Given the description of an element on the screen output the (x, y) to click on. 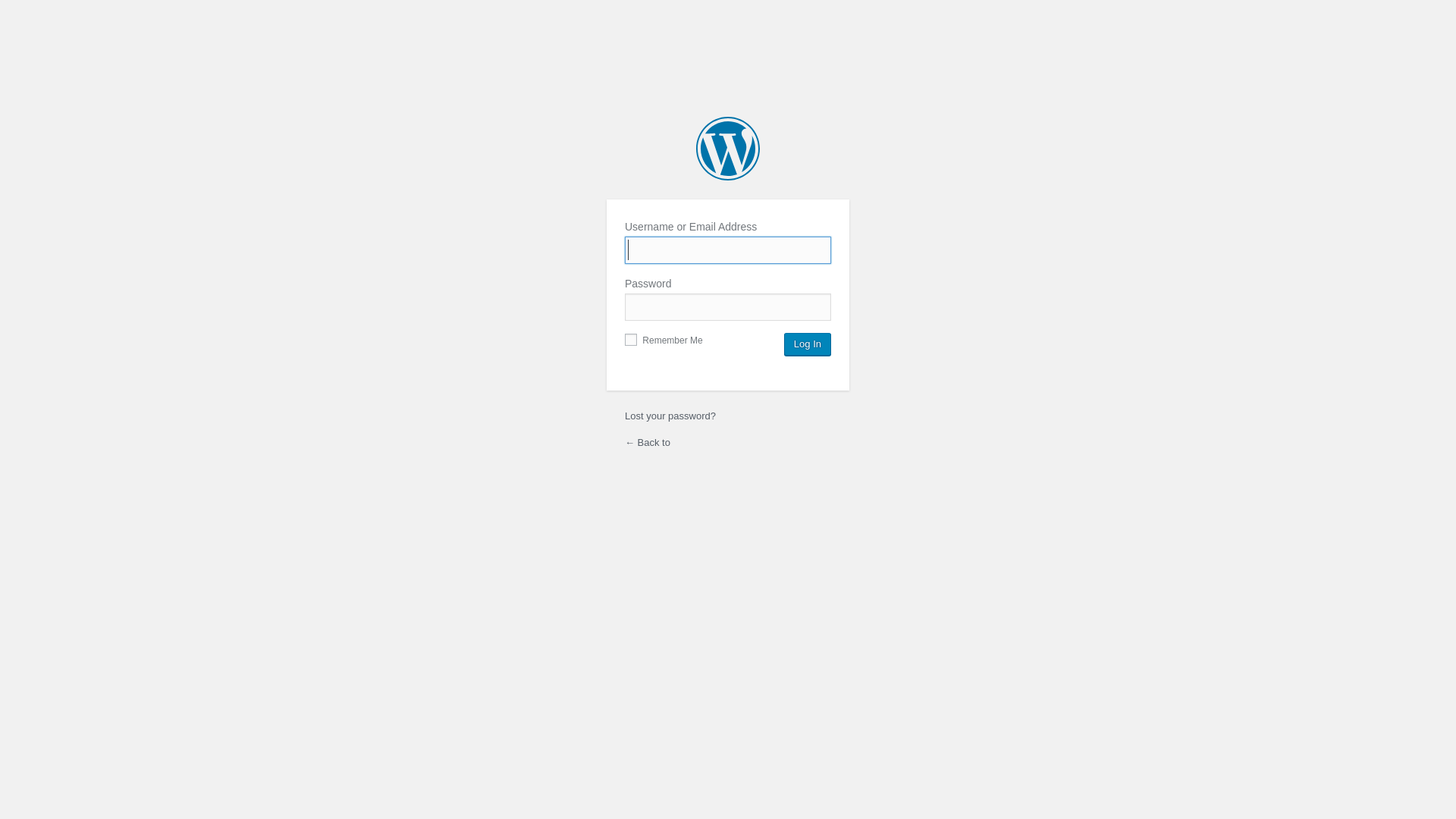
Log In Element type: text (807, 343)
Lost your password? Element type: text (669, 415)
Powered by WordPress Element type: text (727, 148)
